Given the description of an element on the screen output the (x, y) to click on. 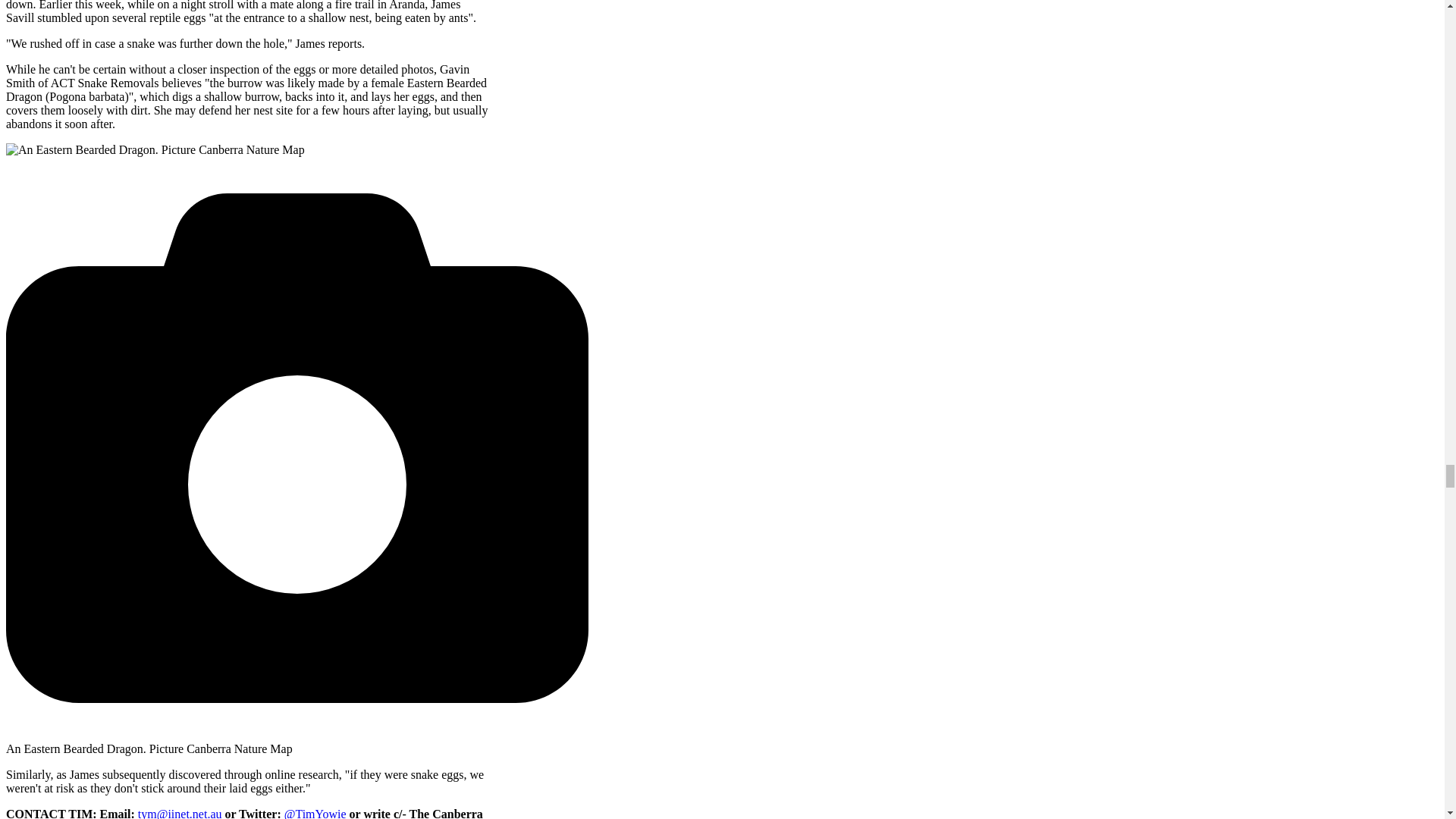
An Eastern Bearded Dragon. Picture Canberra Nature Map (154, 150)
